Given the description of an element on the screen output the (x, y) to click on. 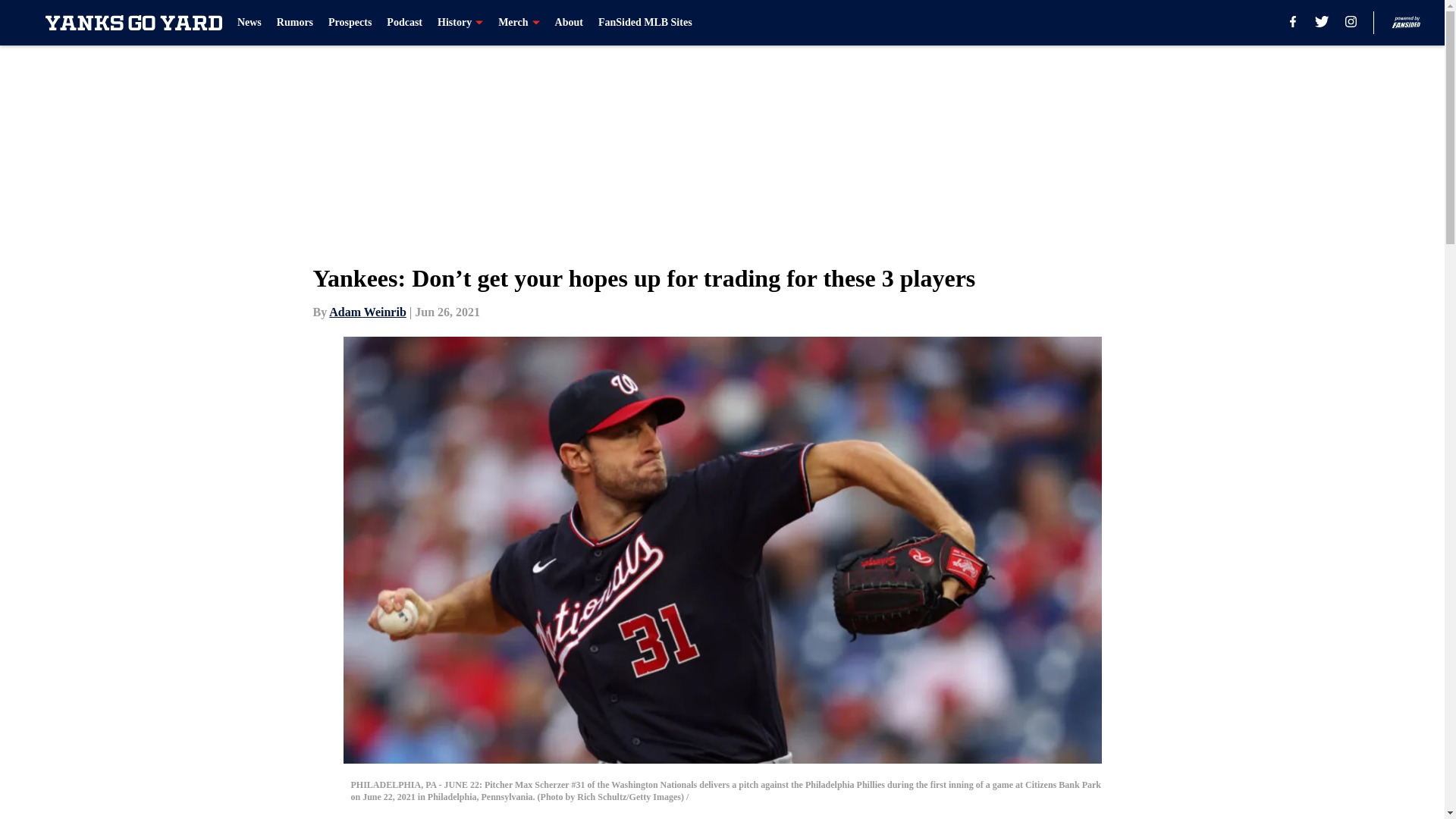
Adam Weinrib (367, 311)
Rumors (294, 22)
About (568, 22)
News (249, 22)
Prospects (350, 22)
Podcast (404, 22)
FanSided MLB Sites (645, 22)
